Given the description of an element on the screen output the (x, y) to click on. 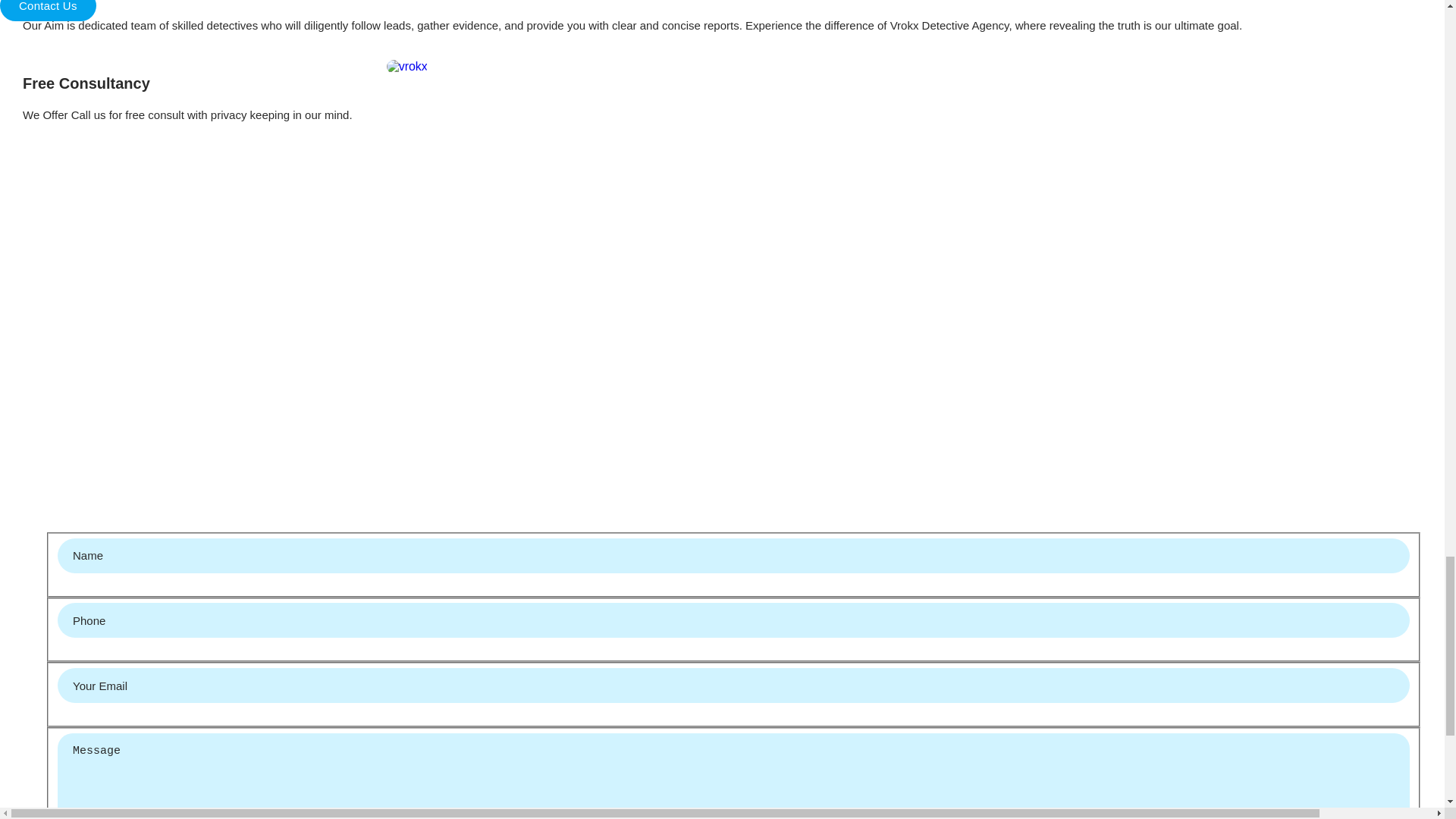
Contact Us (48, 10)
Free Consultancy (187, 83)
